Given the description of an element on the screen output the (x, y) to click on. 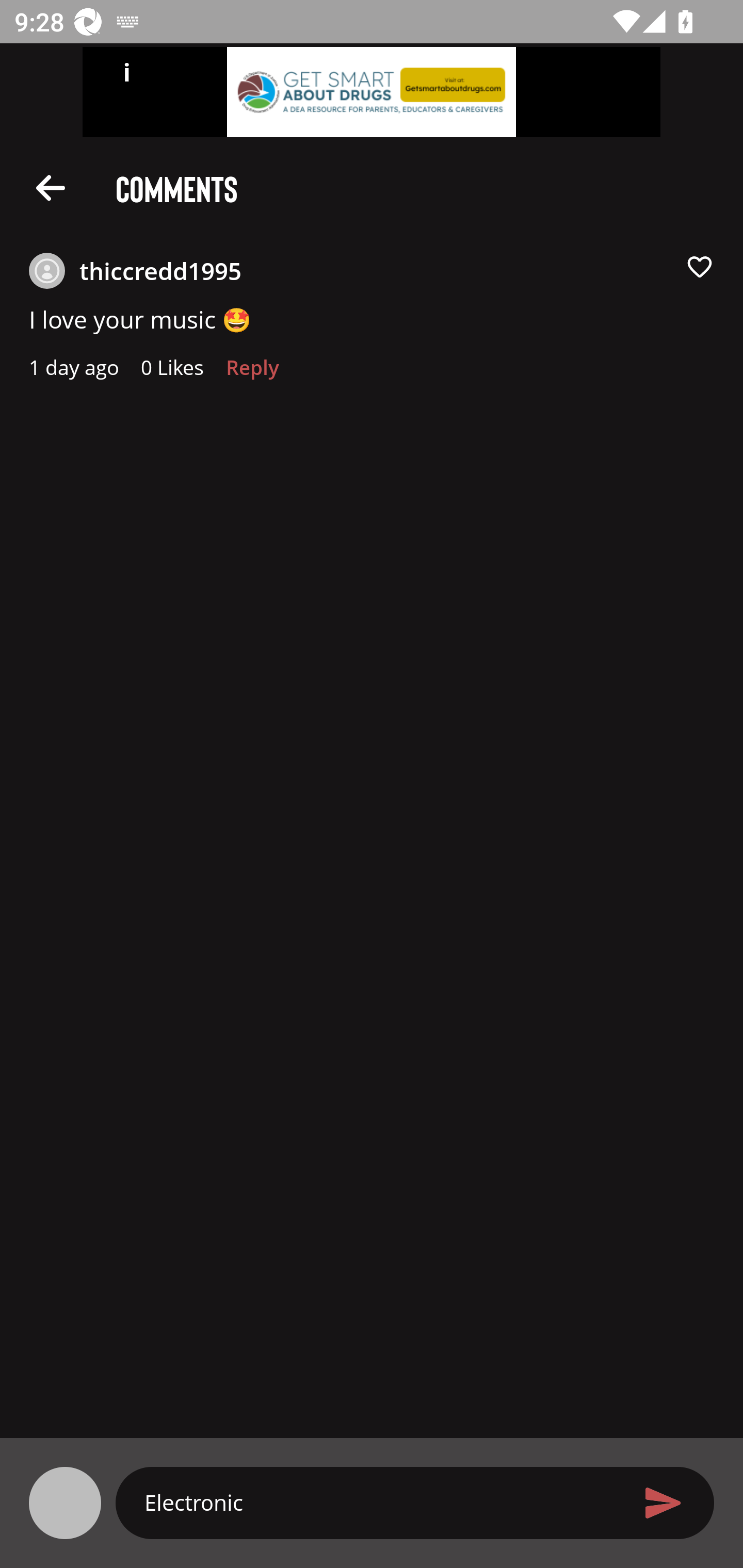
Description (50, 187)
Reply (252, 372)
Electronic (378, 1502)
